Given the description of an element on the screen output the (x, y) to click on. 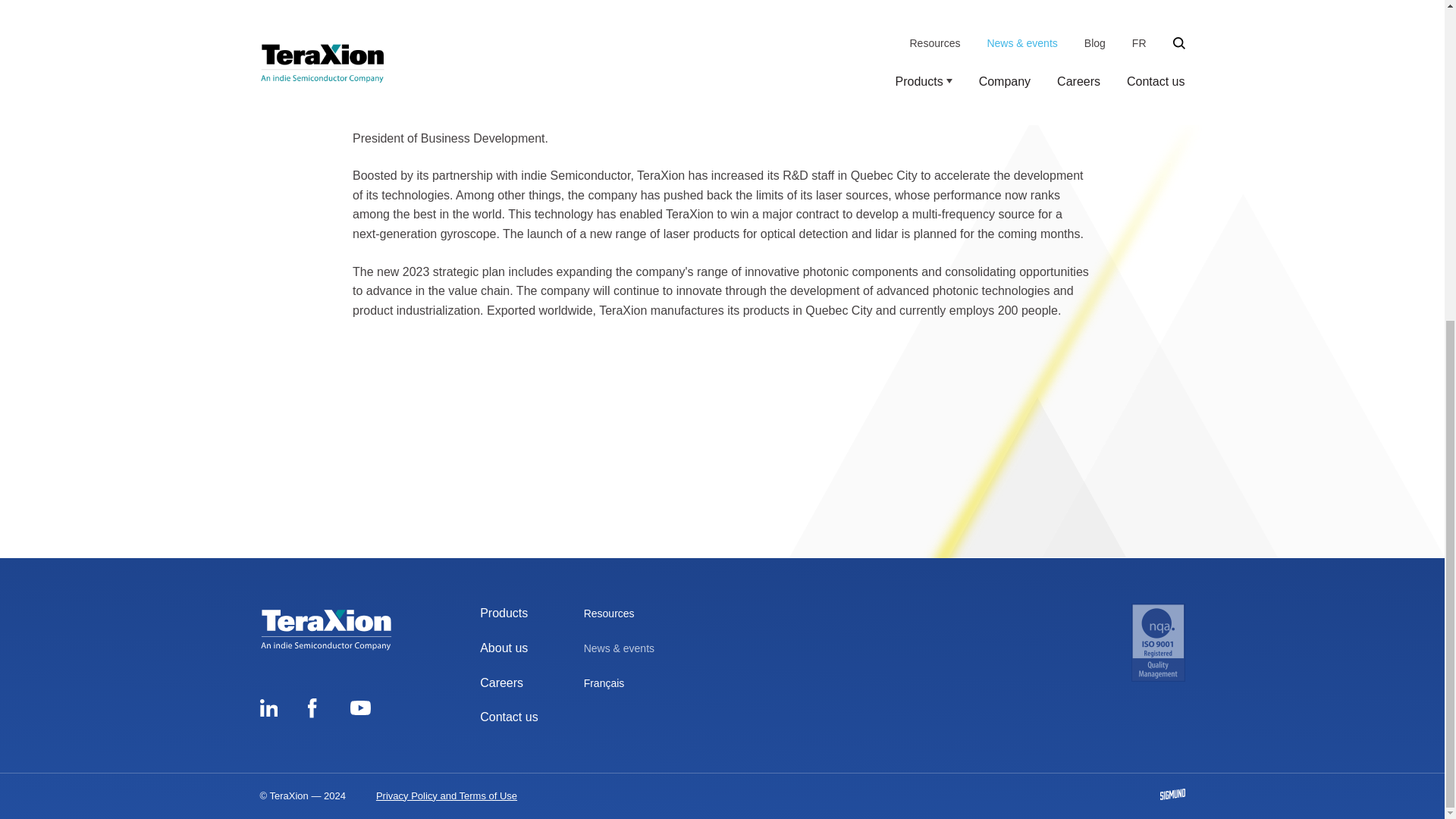
Careers (501, 682)
TeraXion (325, 629)
Sigmund (1172, 794)
LinkedIn (267, 708)
Facebook (312, 708)
Contact us (508, 717)
Youtube (360, 710)
Resources (608, 613)
Youtube (360, 707)
Facebook (312, 710)
About us (503, 648)
Products (503, 613)
Privacy Policy and Terms of Use (445, 796)
LinkedIn (268, 710)
Sigmund (1172, 794)
